Given the description of an element on the screen output the (x, y) to click on. 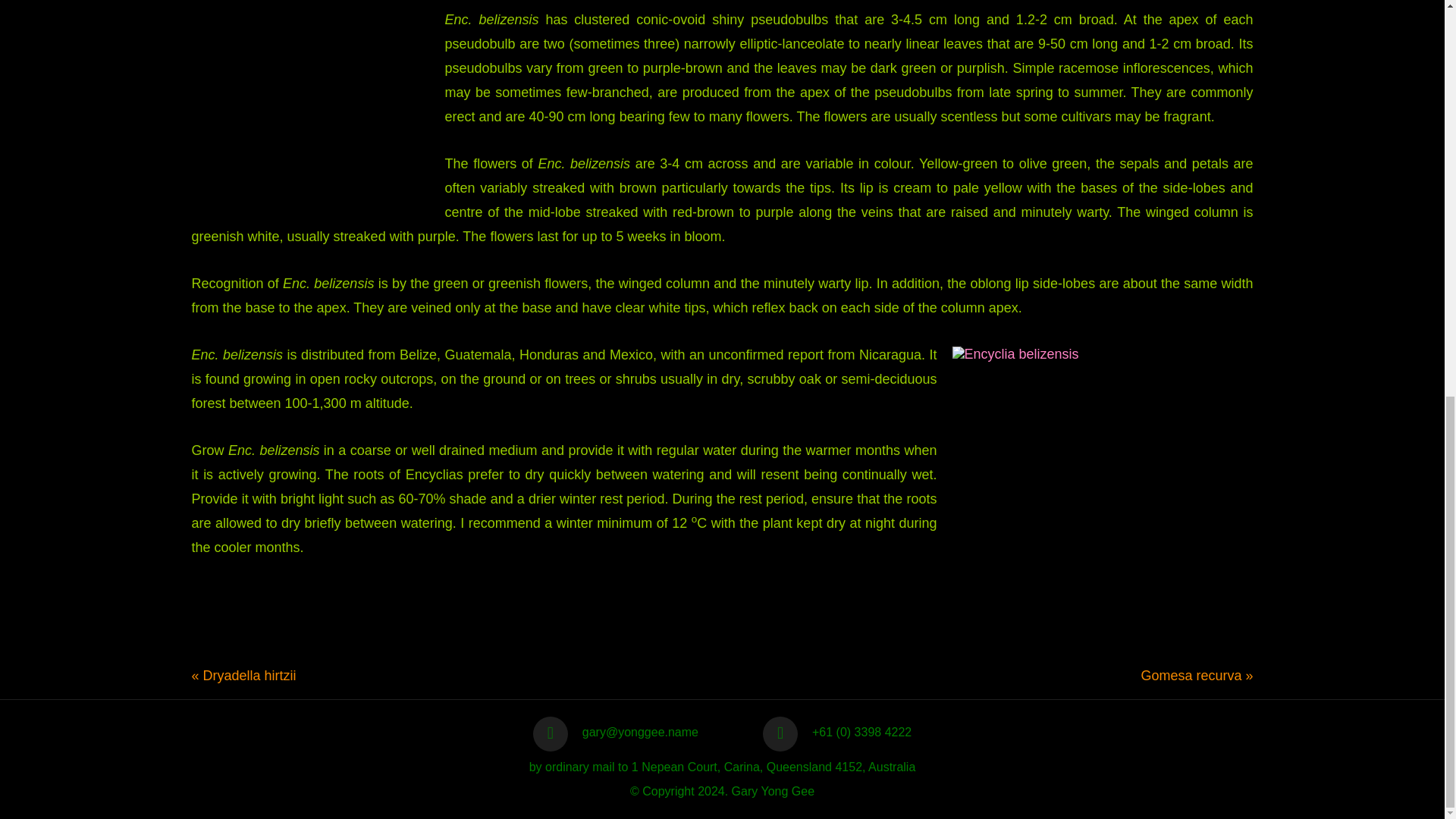
Gomesa recurva (1190, 675)
Dryadella hirtzii (250, 675)
Gary Yong Gee (772, 790)
